Given the description of an element on the screen output the (x, y) to click on. 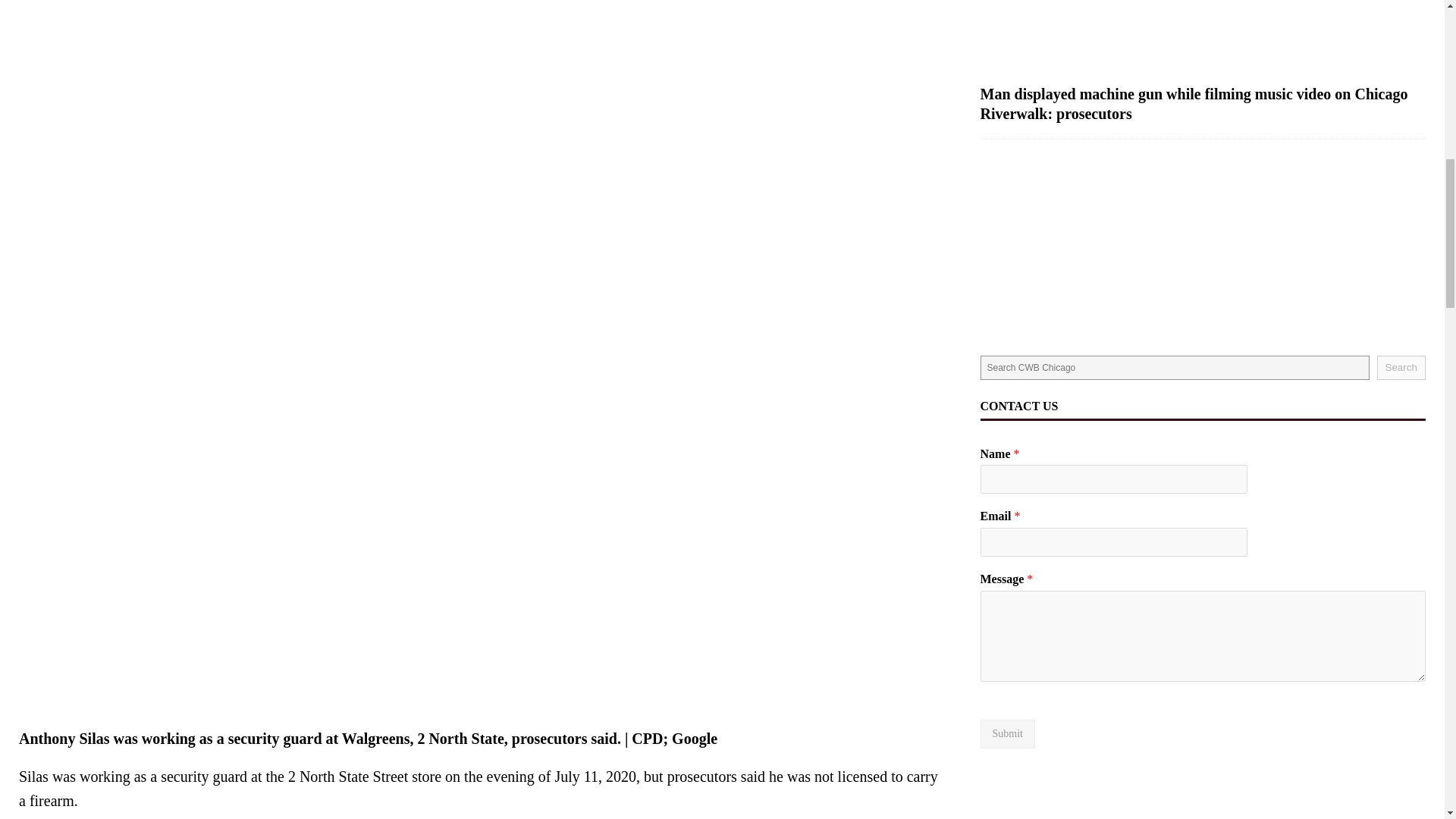
Search (1401, 367)
Submit (1007, 733)
